Given the description of an element on the screen output the (x, y) to click on. 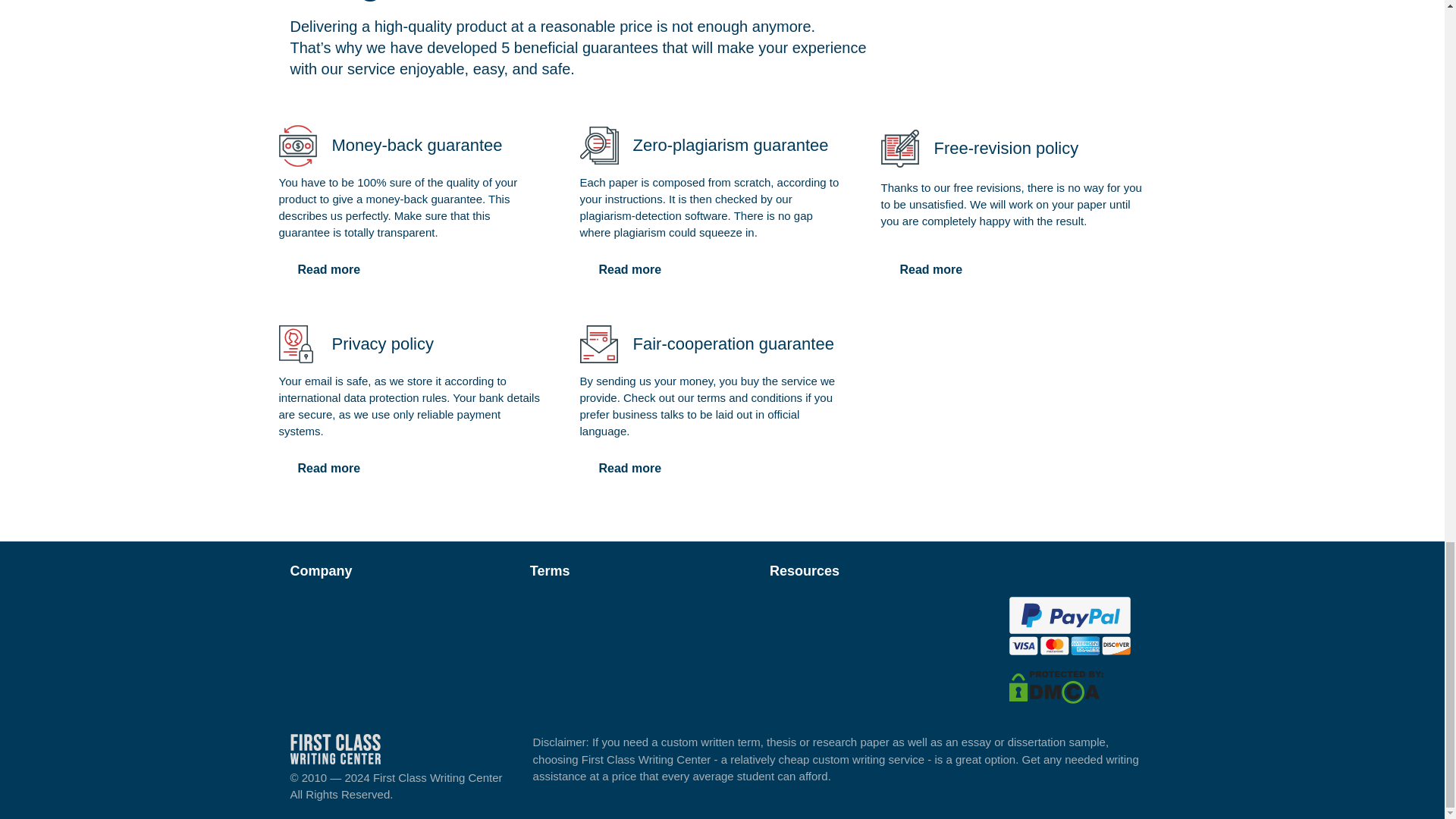
Read more (629, 468)
Read more (930, 269)
Read more (629, 269)
Read more (329, 468)
Read more (329, 269)
DMCA (1056, 686)
